Given the description of an element on the screen output the (x, y) to click on. 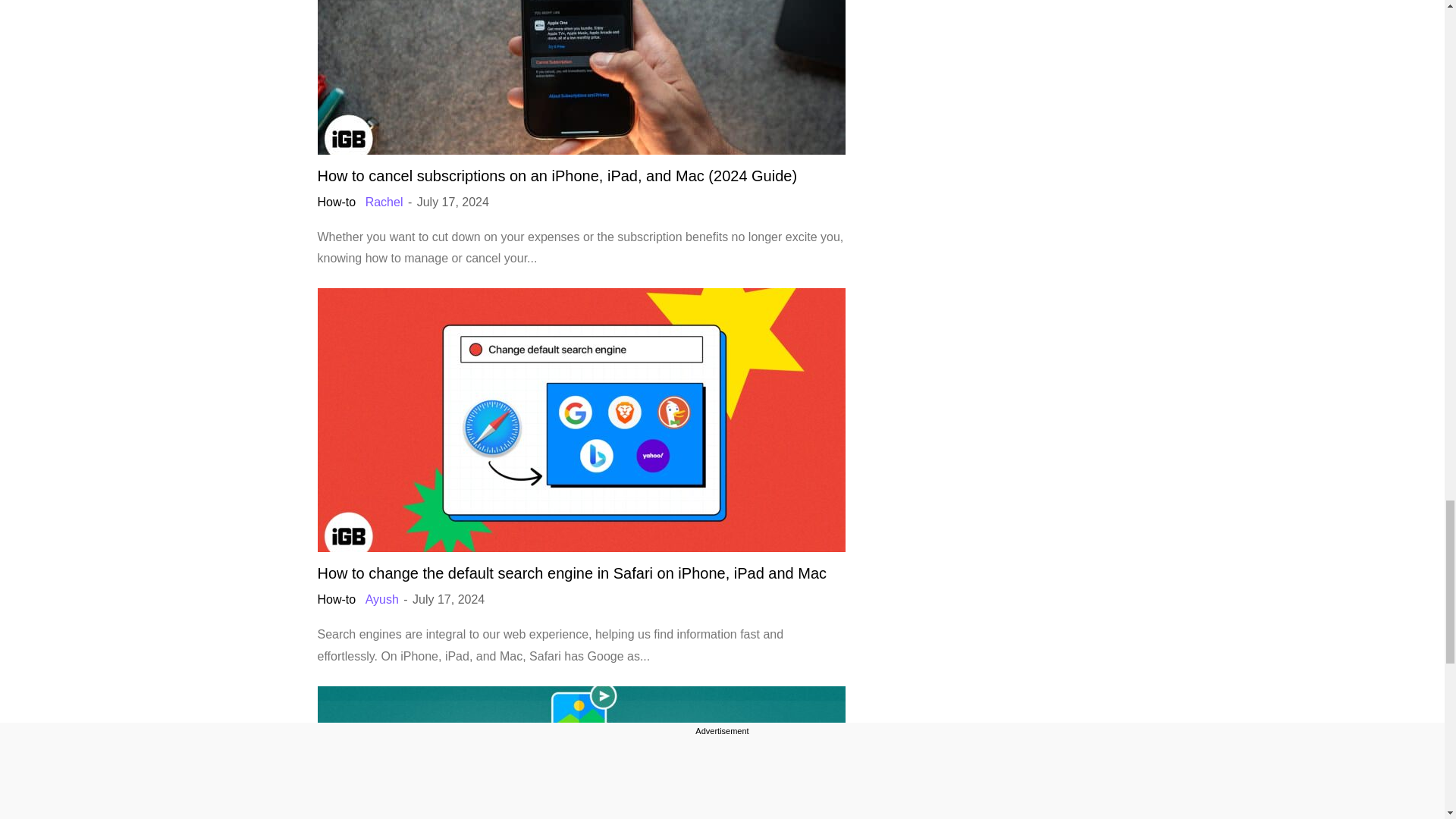
How to send HD photos in WhatsApp on iPhone and Mac (580, 752)
